Given the description of an element on the screen output the (x, y) to click on. 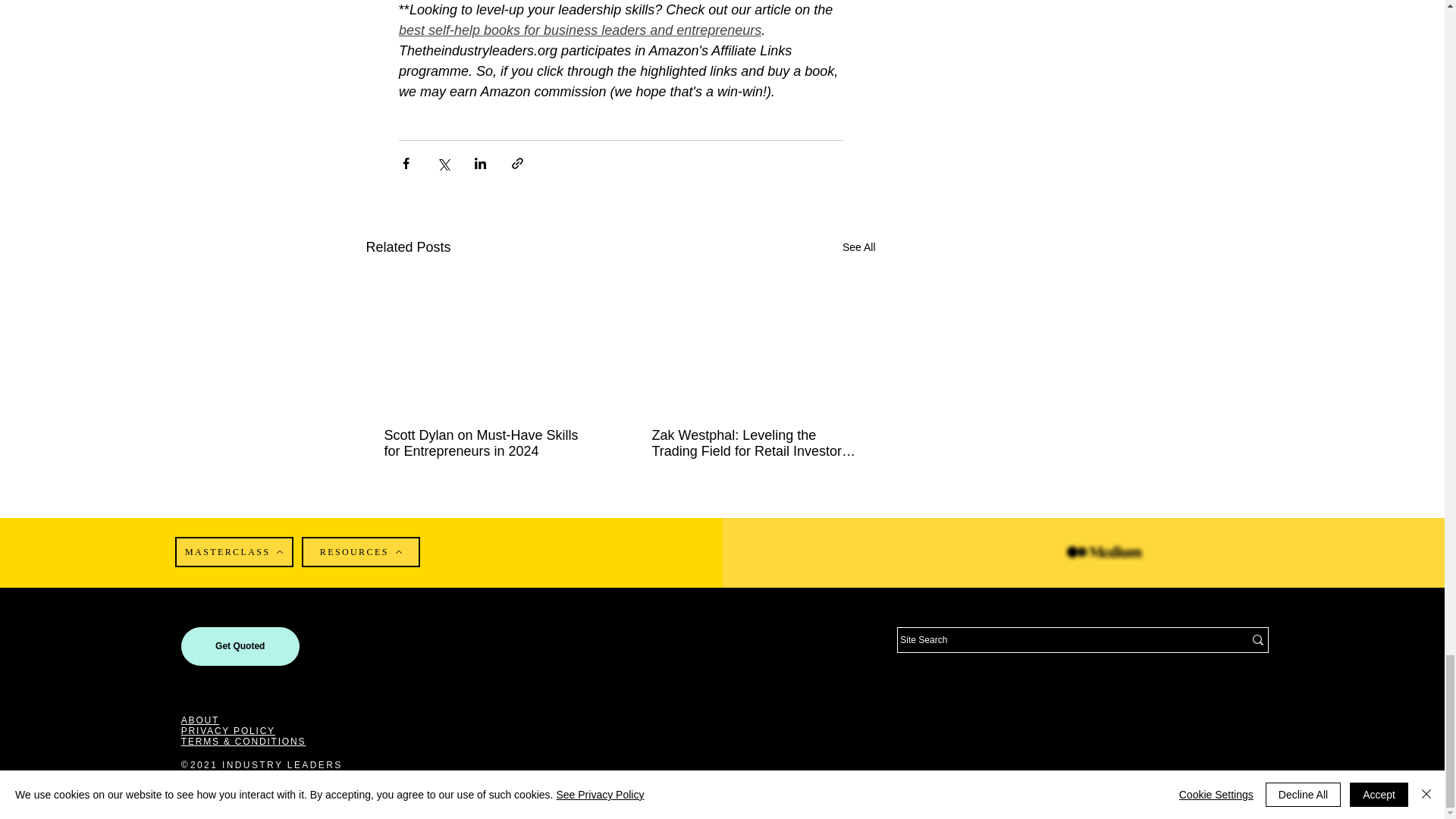
ABOUT (199, 719)
best self-help books for business leaders and entrepreneurs (579, 29)
Get Quoted (239, 646)
See All (859, 247)
PRIVACY POLICY (227, 730)
Scott Dylan on Must-Have Skills for Entrepreneurs in 2024 (486, 443)
